Given the description of an element on the screen output the (x, y) to click on. 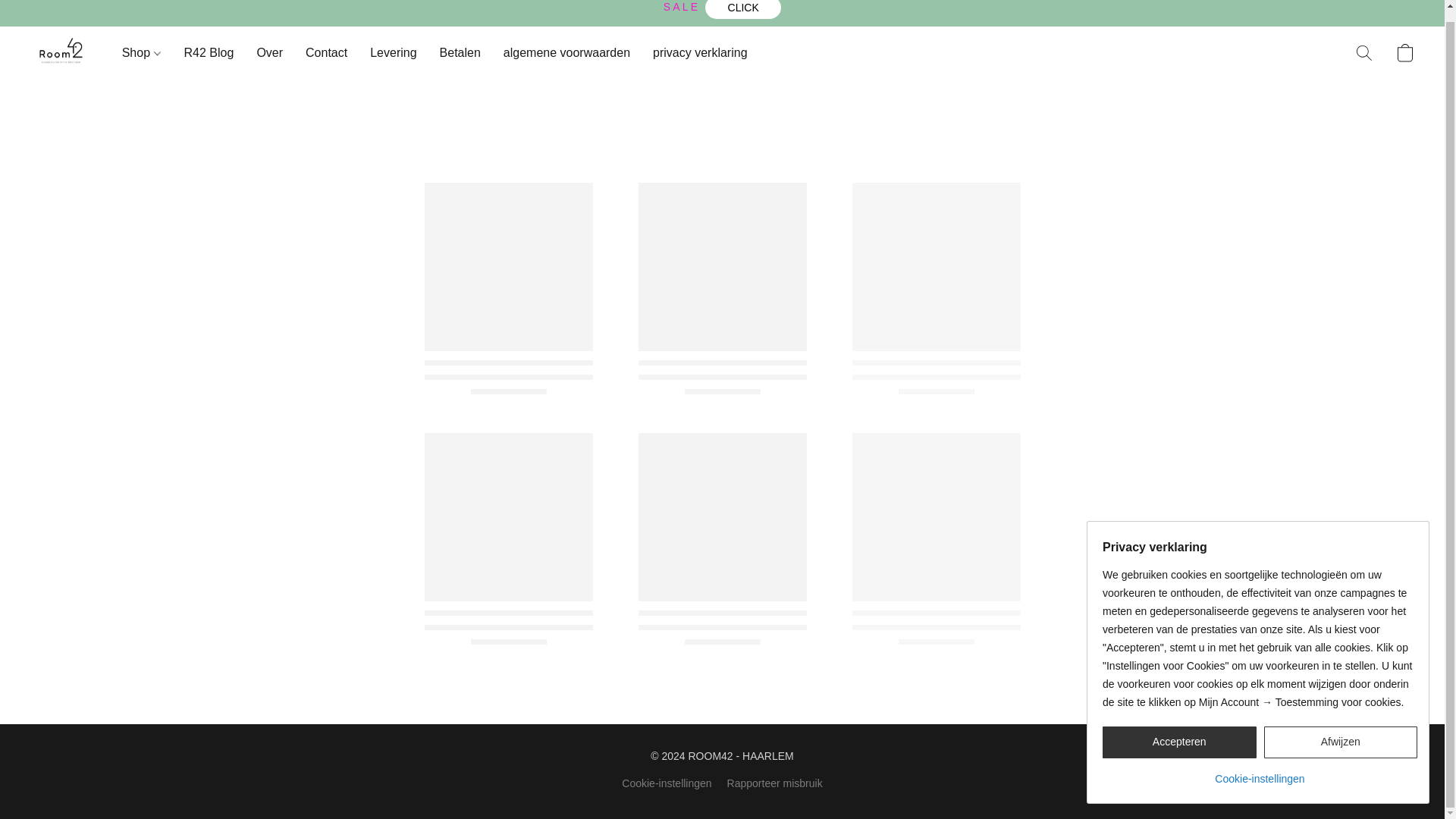
Accepteren (1179, 730)
Cookie-instellingen (1259, 761)
CLICK (742, 9)
Contact (326, 52)
Afwijzen (1339, 730)
algemene voorwaarden (567, 52)
Cookie-instellingen (666, 782)
Over (269, 52)
Rapporteer misbruik (774, 782)
Zoeken op website (1363, 52)
Levering (393, 52)
Betalen (460, 52)
R42 Blog (209, 52)
Shop (147, 52)
privacy verklaring (694, 52)
